Given the description of an element on the screen output the (x, y) to click on. 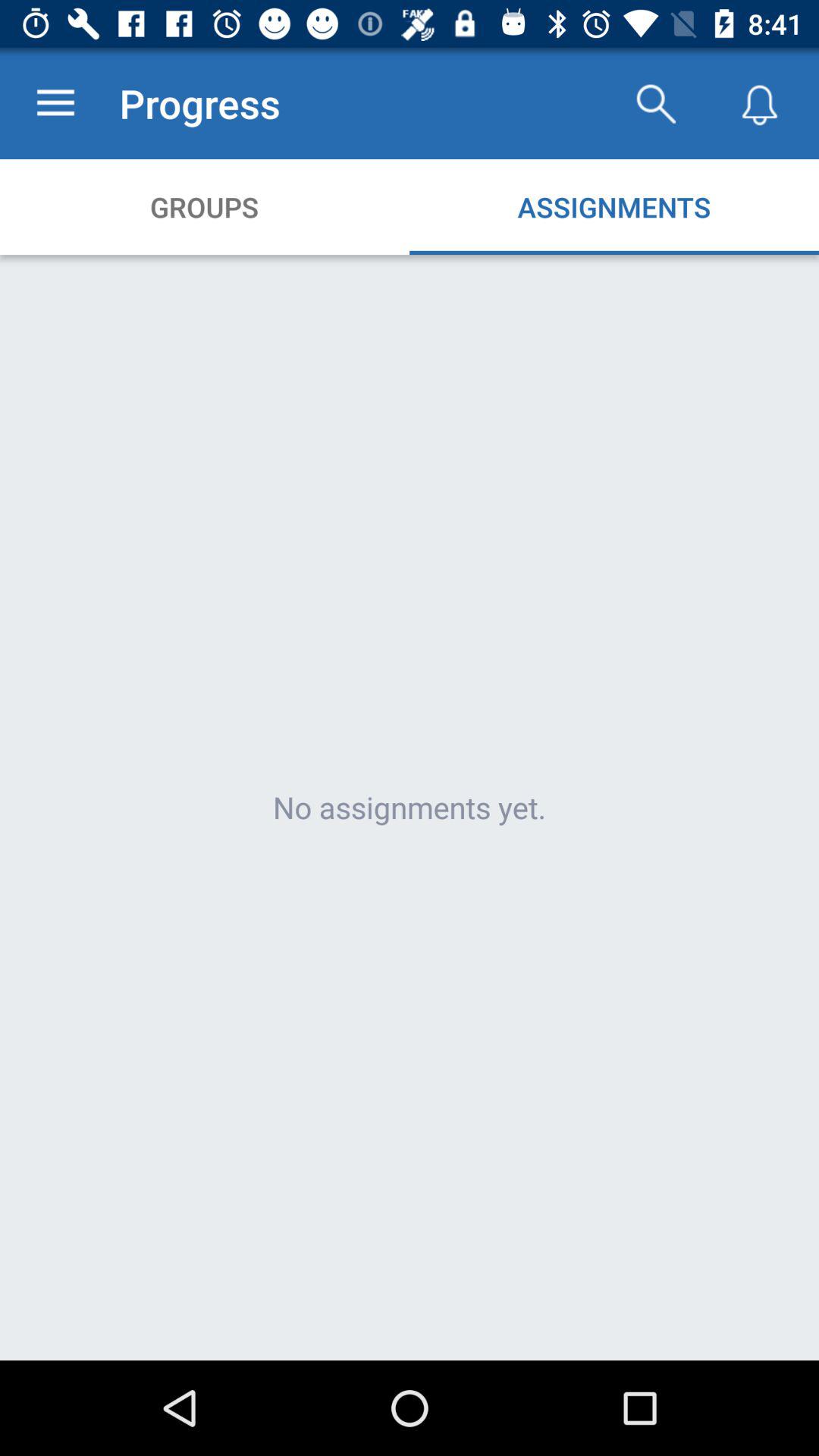
choose icon next to progress item (655, 103)
